Given the description of an element on the screen output the (x, y) to click on. 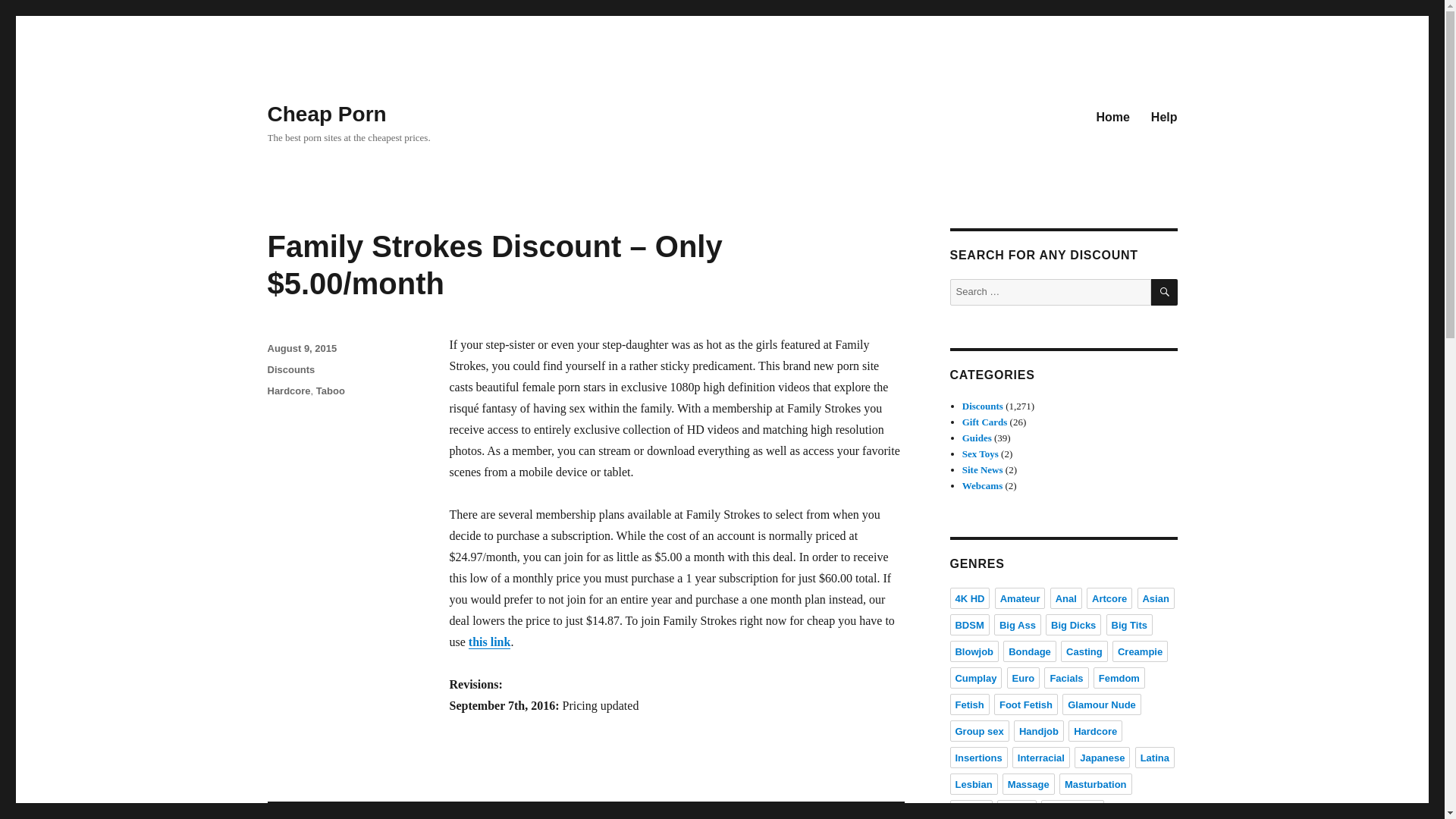
Euro (1024, 677)
Blowjob (973, 650)
Big Dicks (1072, 624)
Artcore (1109, 598)
Creampie (1139, 650)
Discounts (290, 369)
Discounts (982, 405)
Webcams (982, 485)
Guides (976, 437)
August 9, 2015 (301, 348)
